Given the description of an element on the screen output the (x, y) to click on. 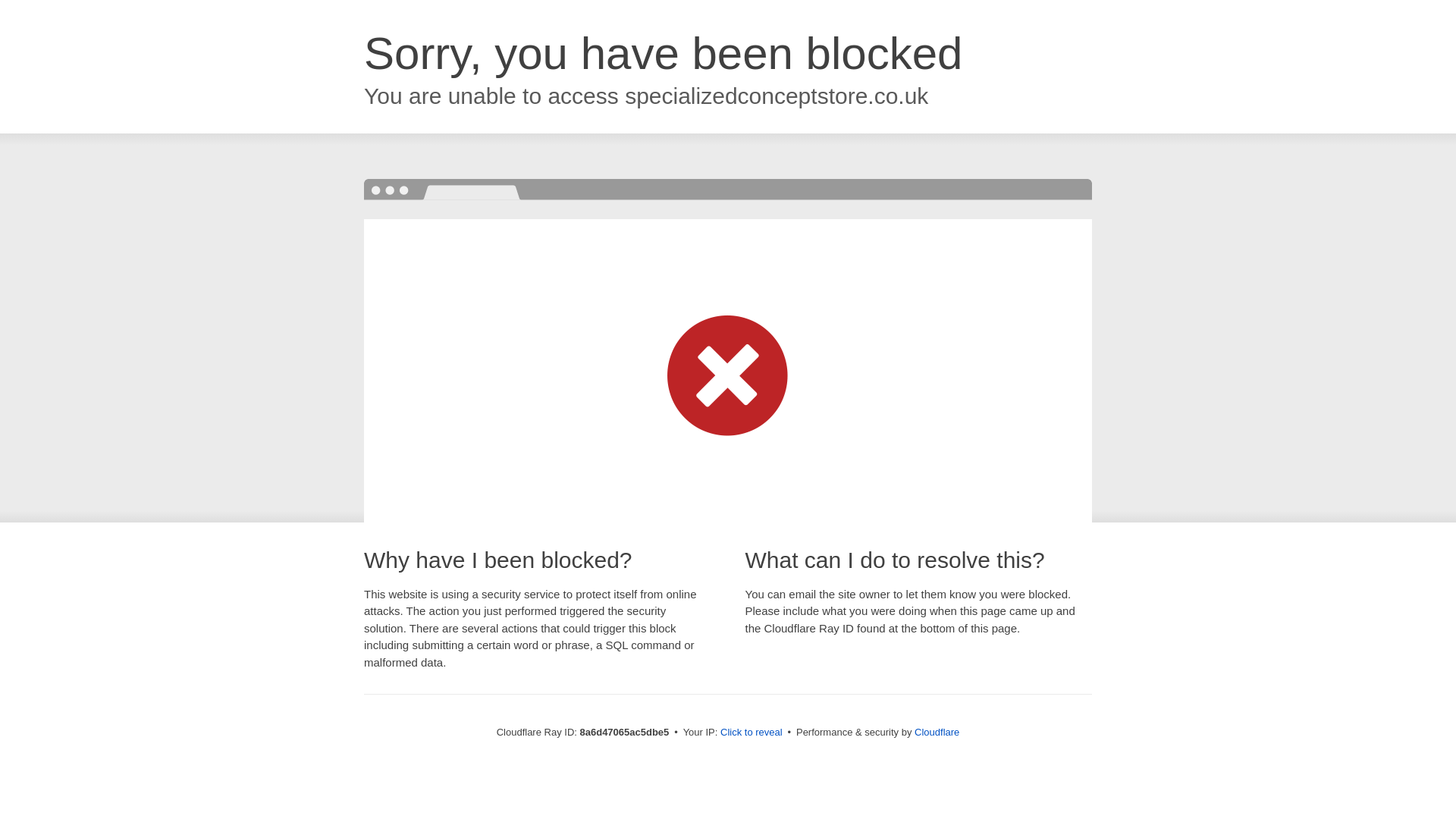
Click to reveal (751, 732)
Cloudflare (936, 731)
